Given the description of an element on the screen output the (x, y) to click on. 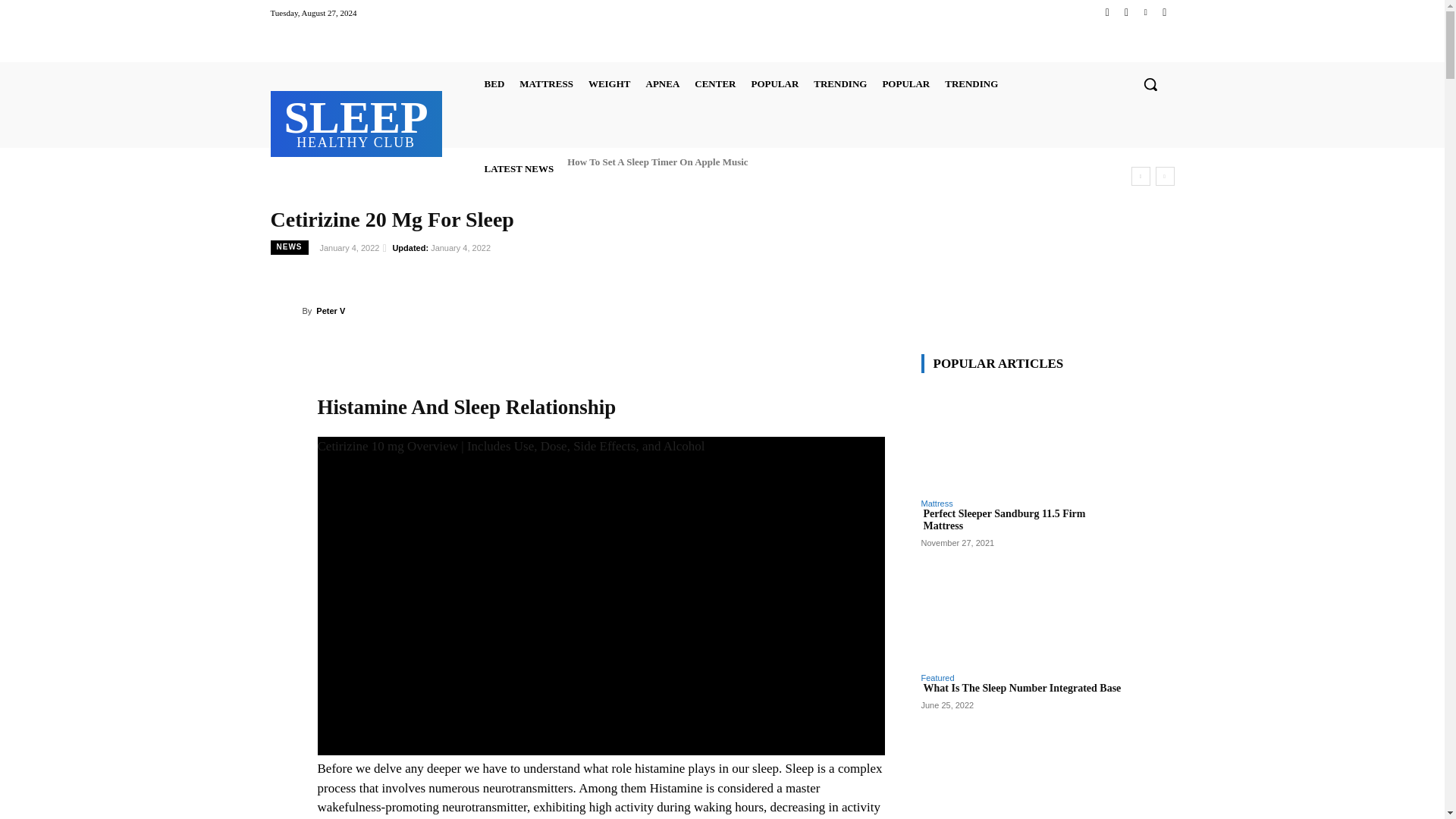
Twitter (356, 122)
Instagram (1144, 12)
How To Set A Sleep Timer On Apple Music (1125, 12)
MATTRESS (656, 161)
Youtube (546, 83)
BED (1163, 12)
Facebook (495, 83)
